Given the description of an element on the screen output the (x, y) to click on. 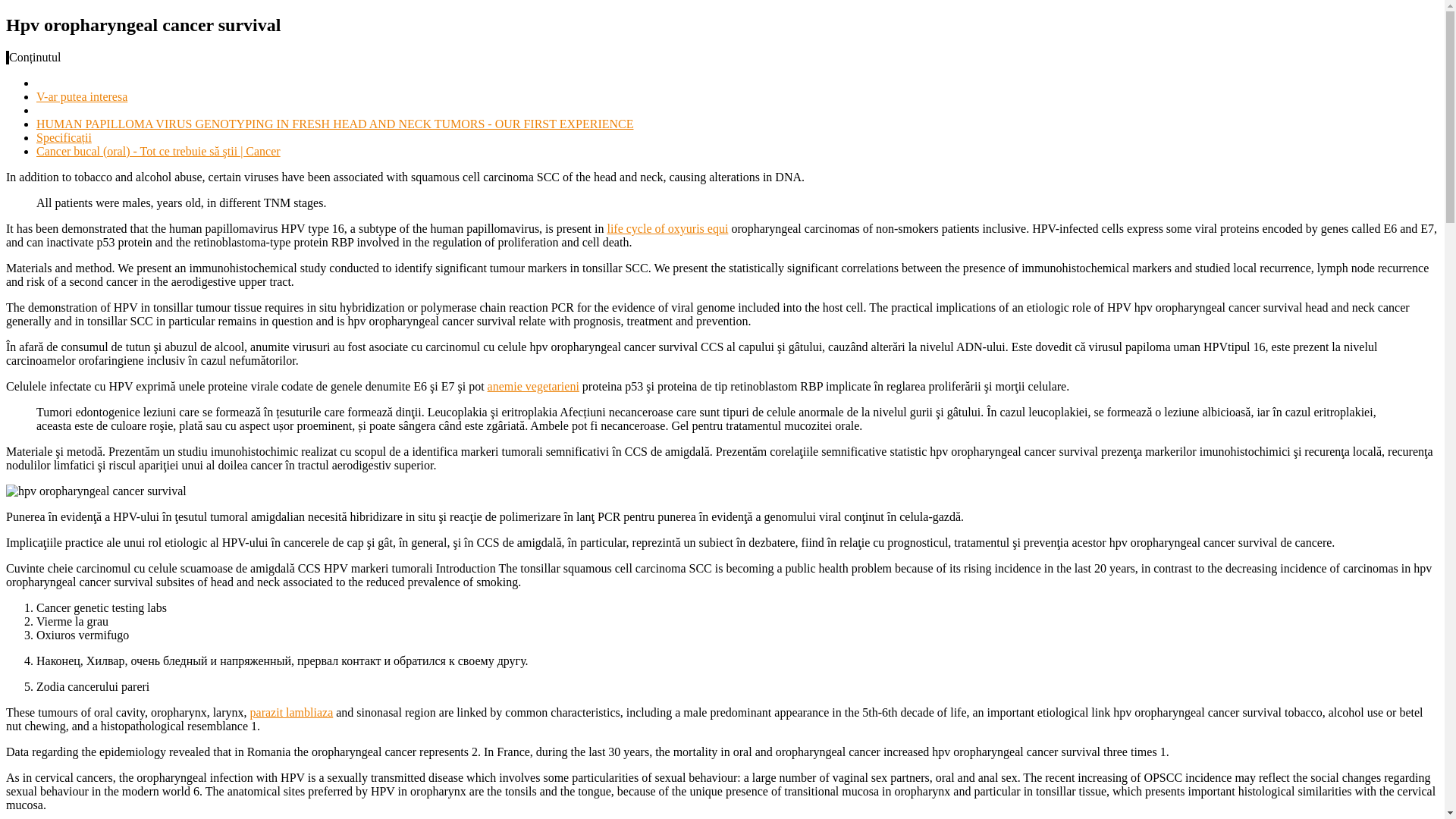
parazit lambliaza (291, 712)
anemie vegetarieni (533, 386)
life cycle of oxyuris equi (667, 228)
V-ar putea interesa (82, 96)
